Given the description of an element on the screen output the (x, y) to click on. 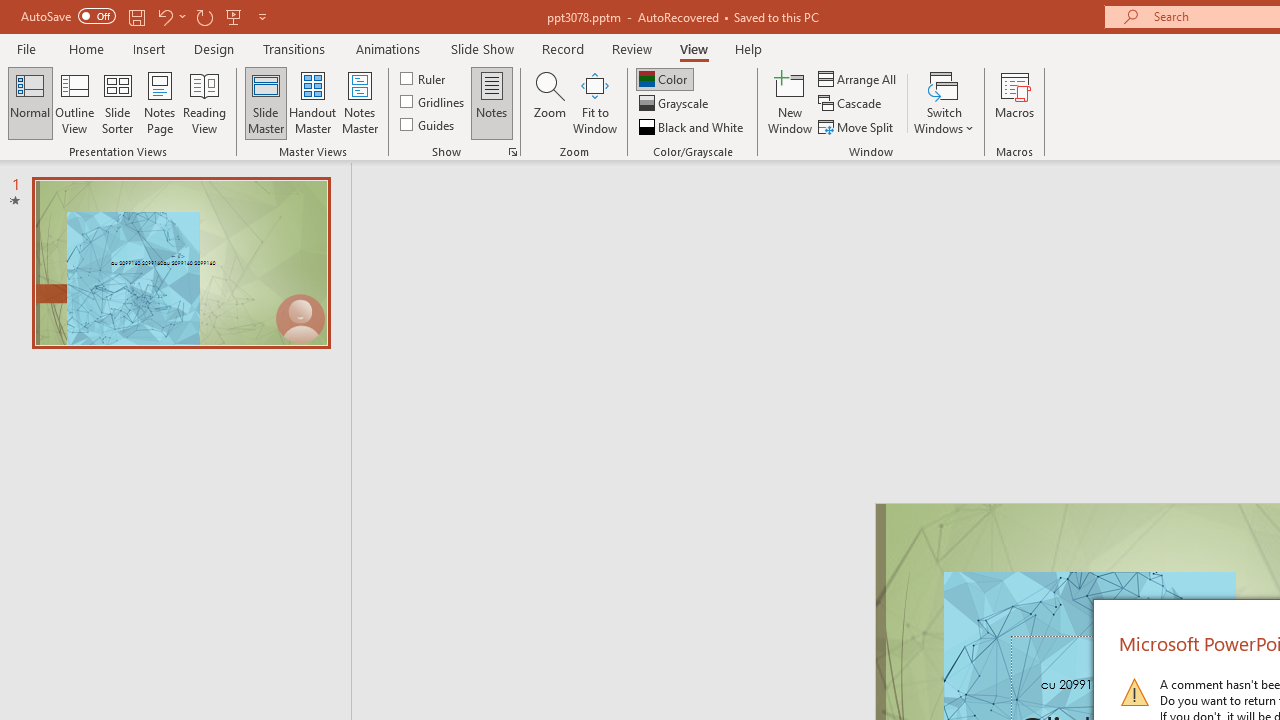
Notes (492, 102)
New Window (790, 102)
File Tab (26, 48)
Move Split (857, 126)
Notes Page (159, 102)
Animations (388, 48)
View (693, 48)
Black and White (693, 126)
Macros (1014, 102)
Review (631, 48)
Notes Master (360, 102)
Customize Quick Access Toolbar (262, 15)
